Given the description of an element on the screen output the (x, y) to click on. 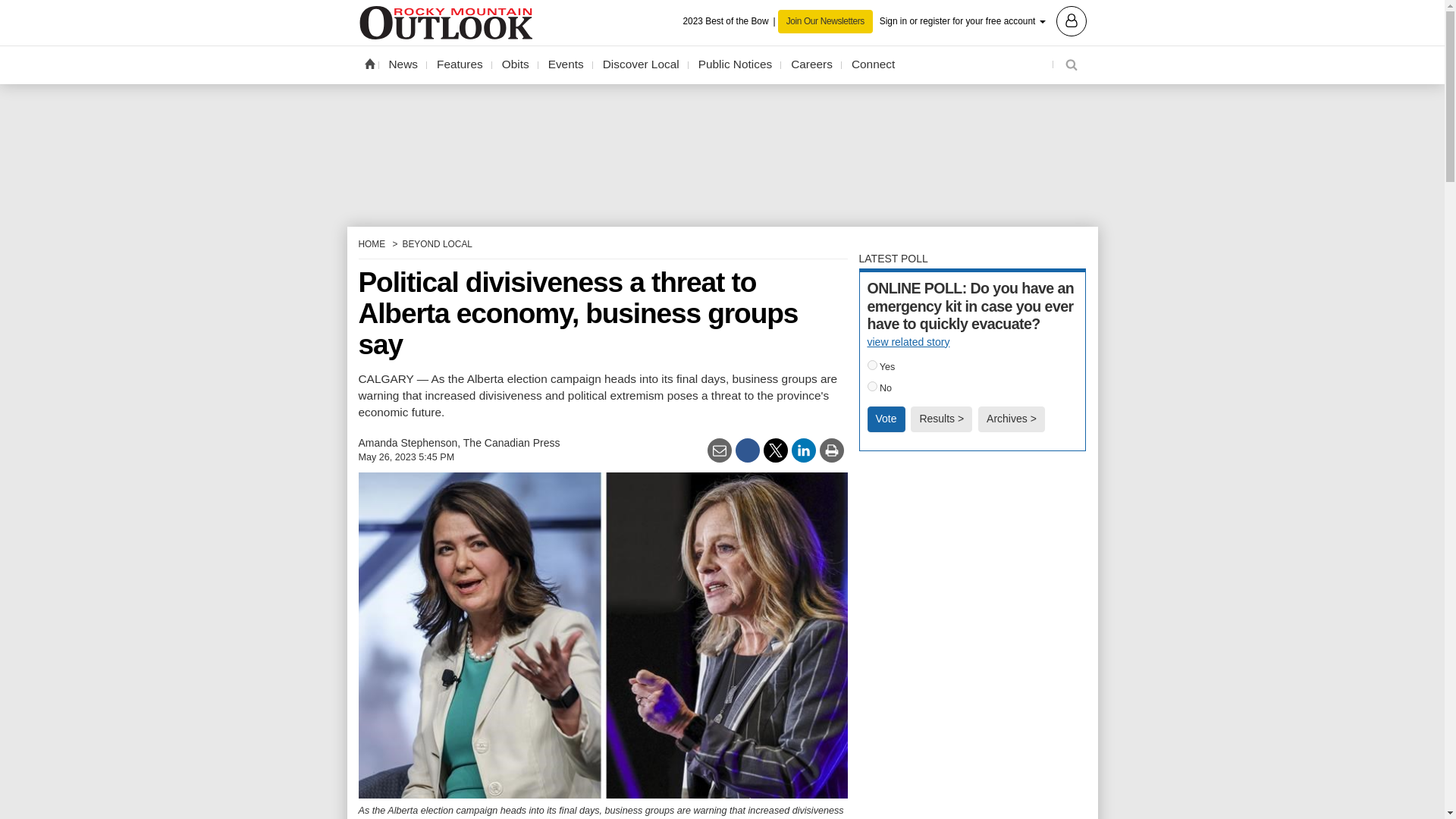
122831 (872, 386)
2023 Best of the Bow (729, 21)
Join Our Newsletters (824, 21)
Home (368, 63)
Sign in or register for your free account (982, 20)
122830 (872, 365)
